Given the description of an element on the screen output the (x, y) to click on. 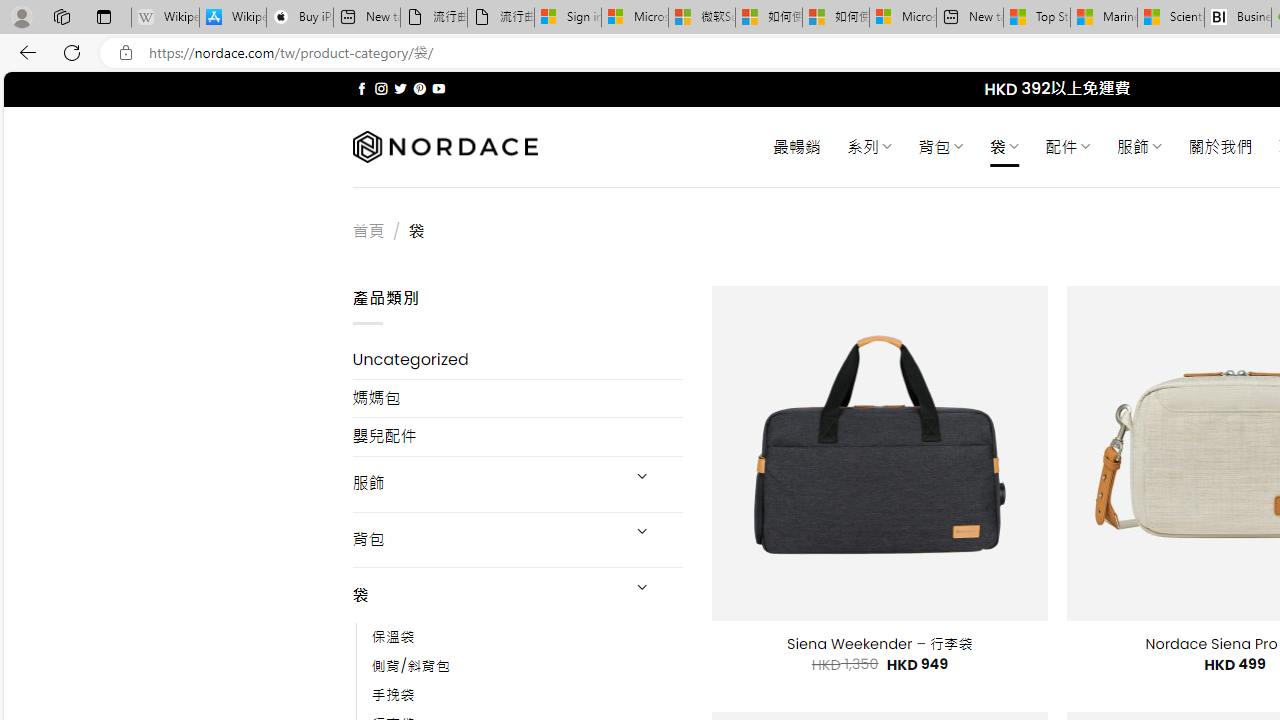
Uncategorized (517, 359)
